Given the description of an element on the screen output the (x, y) to click on. 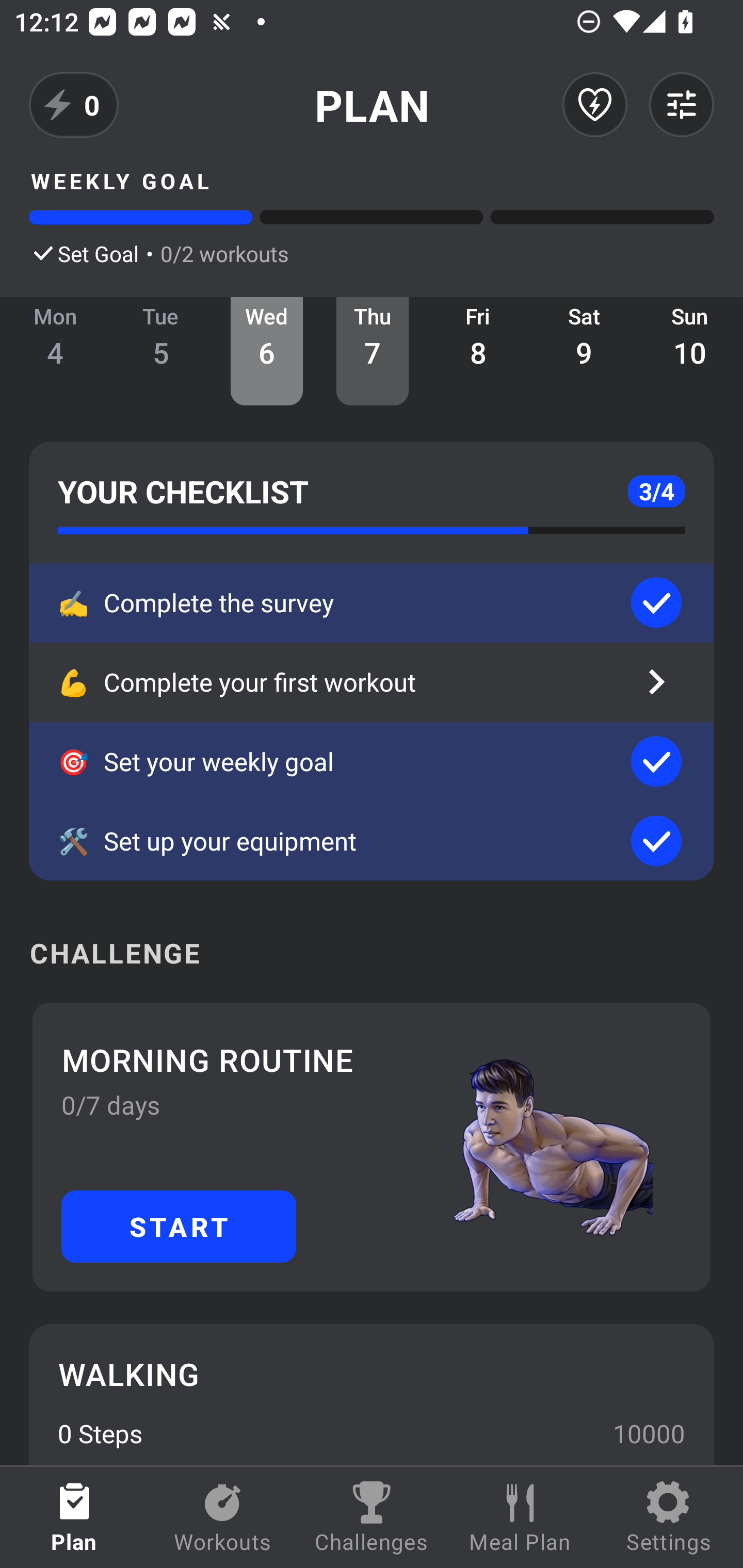
0 (73, 104)
Mon 4 (55, 351)
Tue 5 (160, 351)
Wed 6 (266, 351)
Thu 7 (372, 351)
Fri 8 (478, 351)
Sat 9 (584, 351)
Sun 10 (690, 351)
💪 Complete your first workout (371, 681)
MORNING ROUTINE 0/7 days START (371, 1146)
START (178, 1226)
WALKING 0 Steps 10000 (371, 1393)
 Workouts  (222, 1517)
 Challenges  (371, 1517)
 Meal Plan  (519, 1517)
 Settings  (668, 1517)
